Given the description of an element on the screen output the (x, y) to click on. 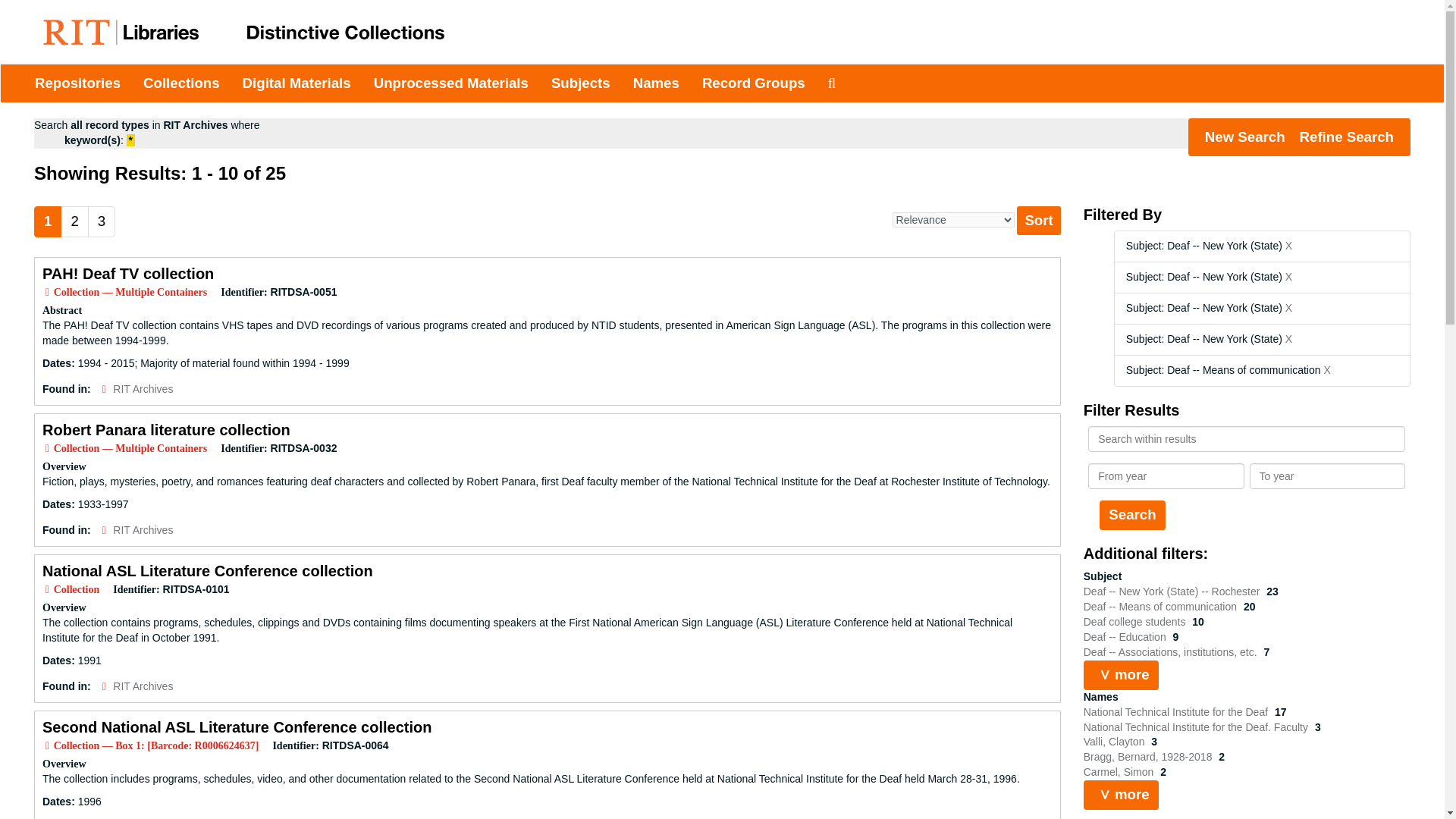
Robert Panara literature collection (165, 429)
Repositories (77, 83)
PAH! Deaf TV collection (128, 273)
Unprocessed Materials (451, 83)
Subjects (580, 83)
National ASL Literature Conference collection (207, 570)
Refine Search (1346, 136)
Search (1131, 514)
Collections (181, 83)
Names (655, 83)
Filter By 'Deaf -- Education' (1126, 636)
Second National ASL Literature Conference collection (236, 727)
RIT Archives (143, 530)
Filter By 'Deaf -- Means of communication' (1161, 606)
Filter By 'Deaf -- Associations, institutions, etc.' (1171, 652)
